Given the description of an element on the screen output the (x, y) to click on. 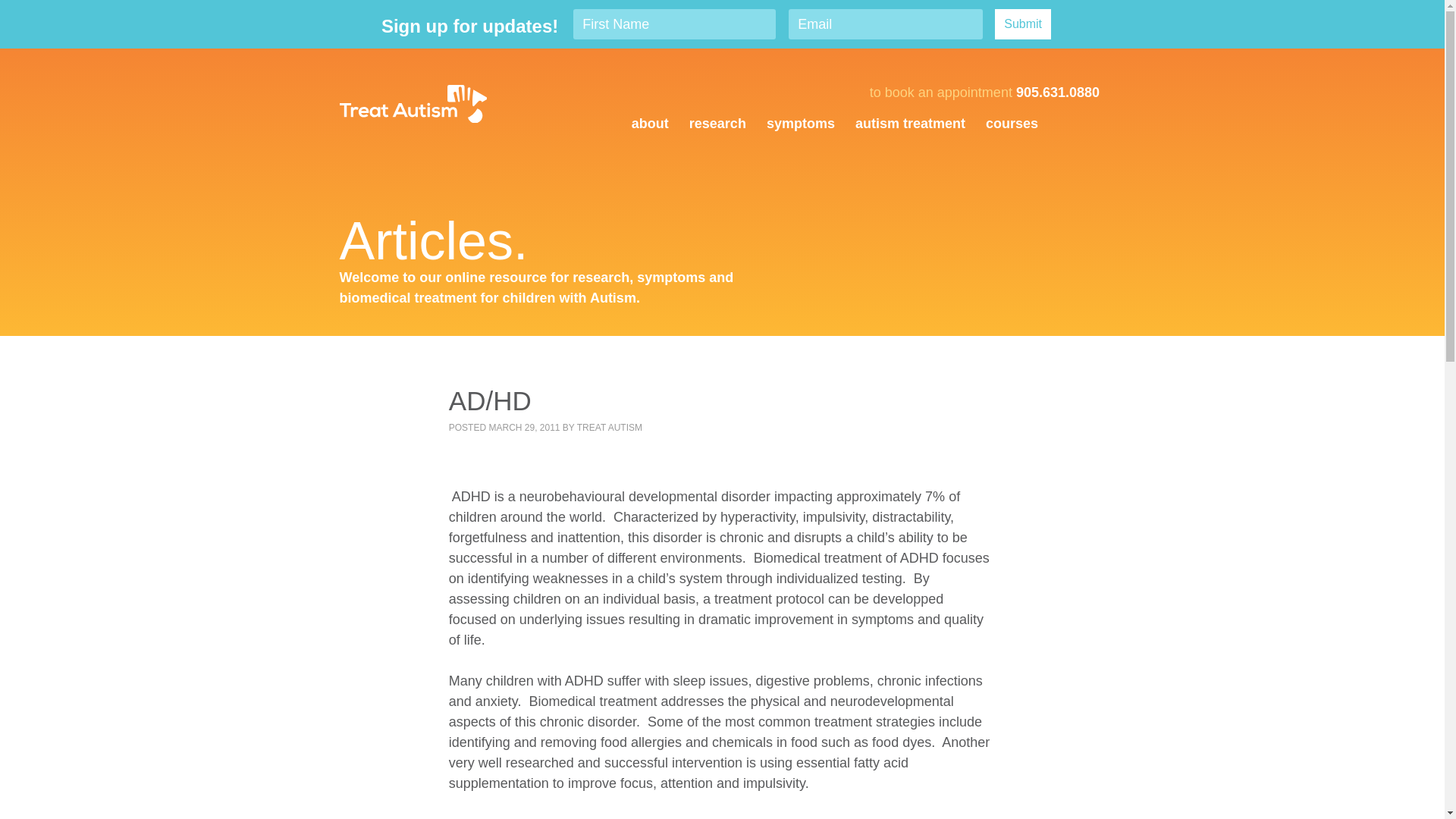
Submit (1022, 24)
Submit (1022, 24)
905.631.0880 (1057, 92)
about (649, 123)
